Given the description of an element on the screen output the (x, y) to click on. 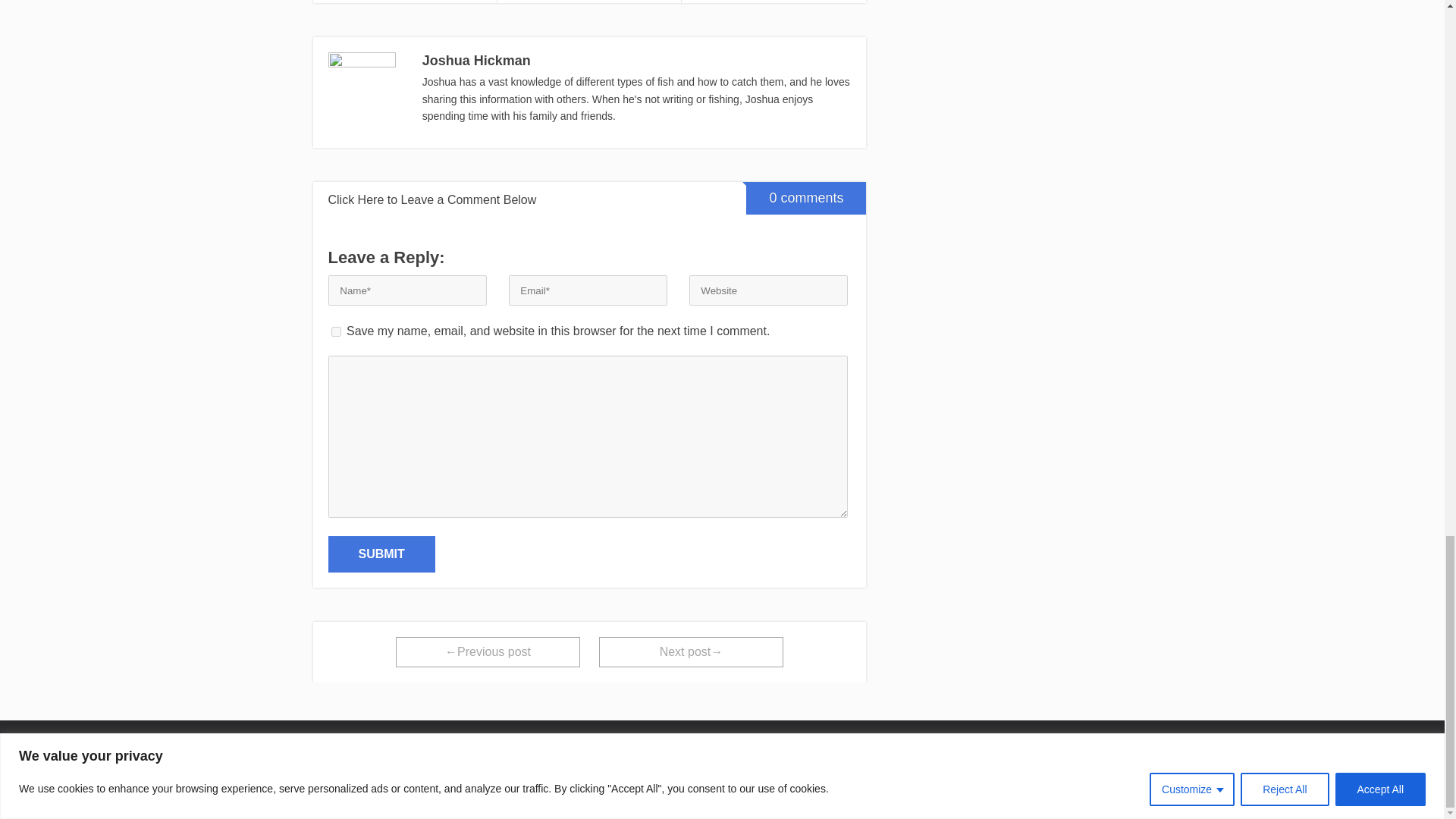
yes (335, 331)
SUBMIT (380, 554)
SUBMIT (380, 554)
